Given the description of an element on the screen output the (x, y) to click on. 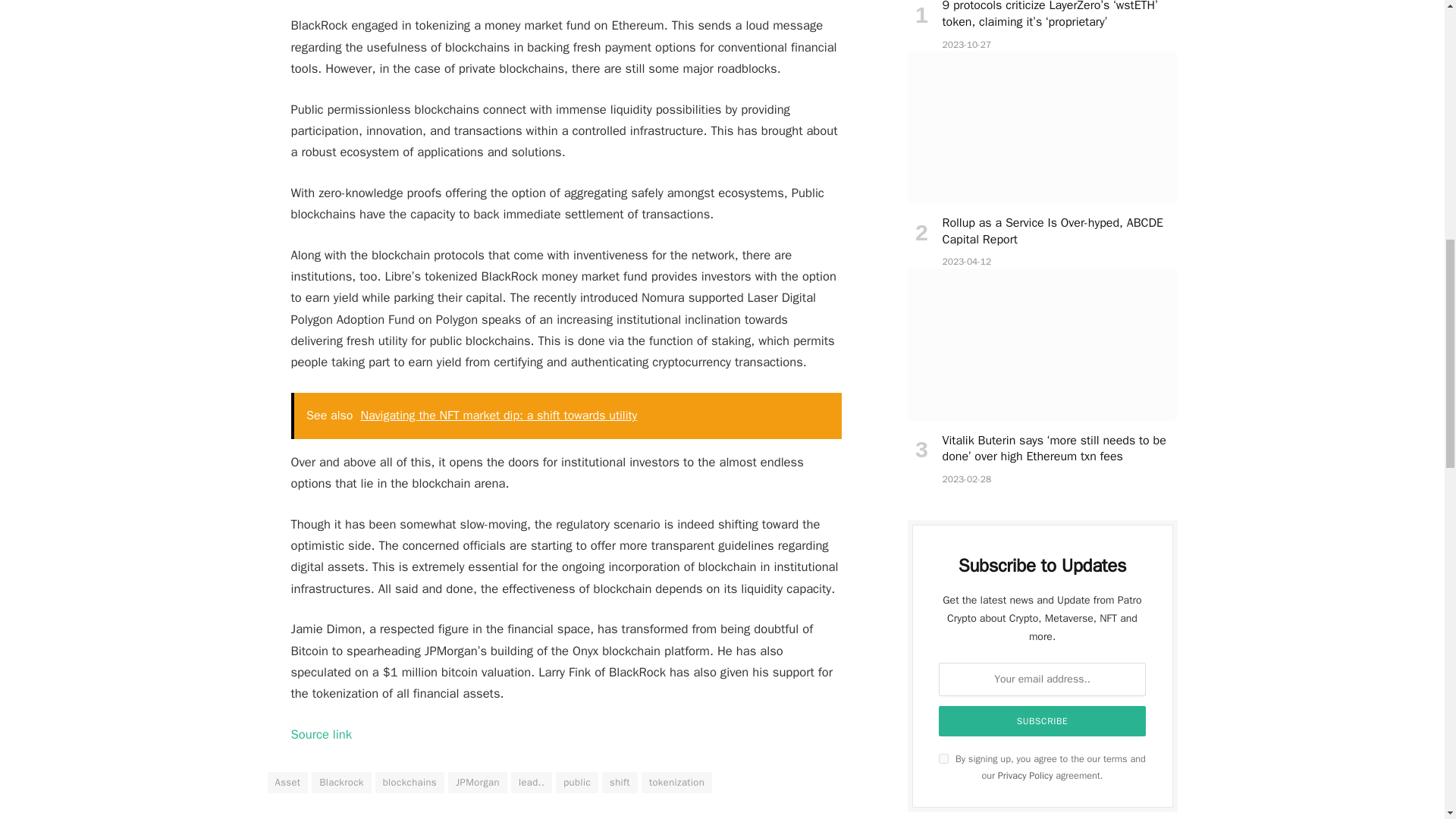
Subscribe (1043, 720)
on (944, 758)
